Given the description of an element on the screen output the (x, y) to click on. 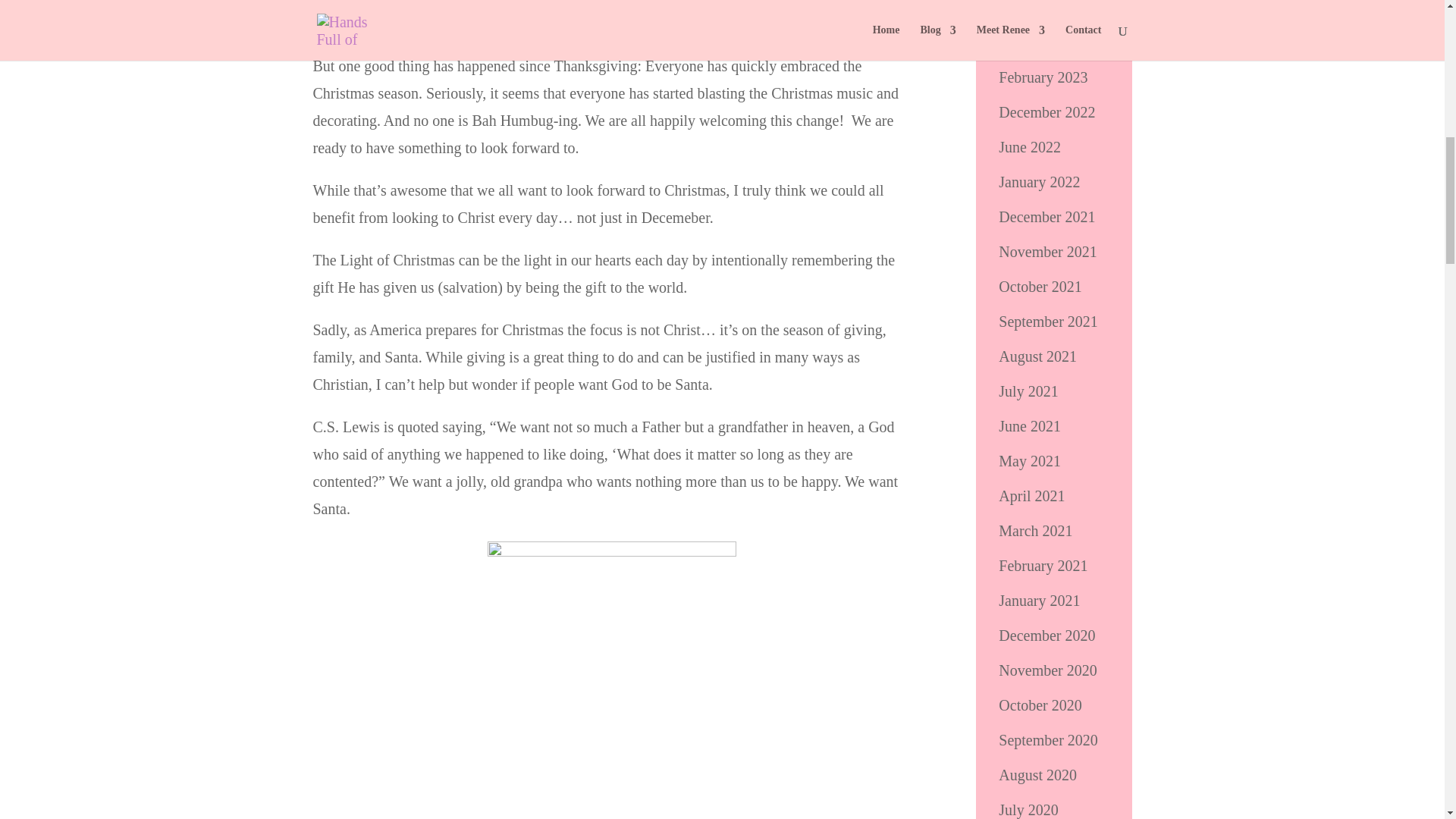
August 2021 (1037, 356)
December 2021 (1046, 216)
July 2021 (1028, 391)
January 2022 (1039, 181)
December 2022 (1046, 112)
May 2023 (1029, 7)
February 2023 (1042, 76)
June 2022 (1029, 146)
November 2021 (1047, 251)
September 2021 (1047, 321)
